Given the description of an element on the screen output the (x, y) to click on. 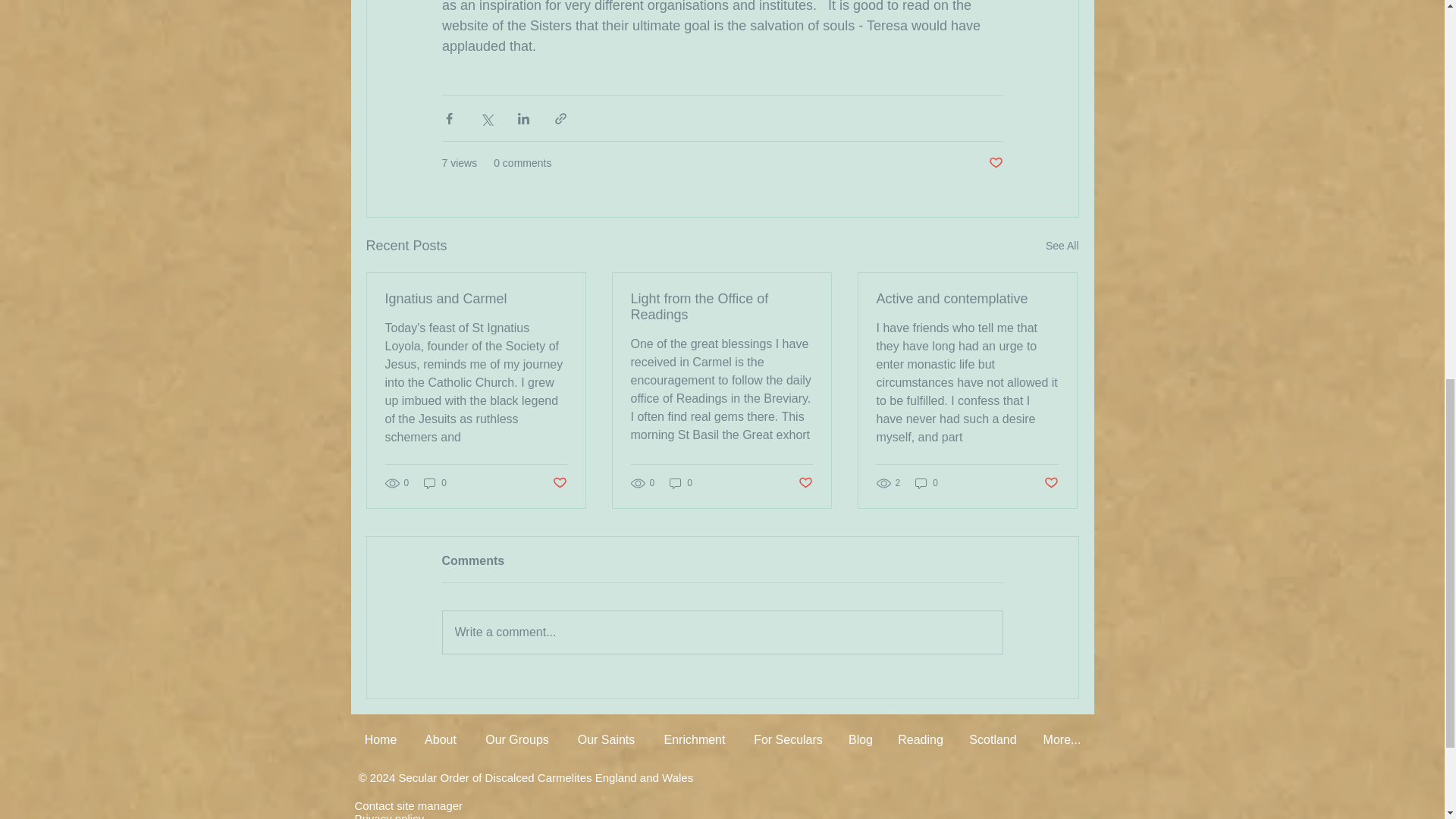
Post not marked as liked (995, 163)
Light from the Office of Readings (721, 306)
0 (435, 482)
See All (1061, 246)
Post not marked as liked (558, 482)
Ignatius and Carmel (476, 299)
